Given the description of an element on the screen output the (x, y) to click on. 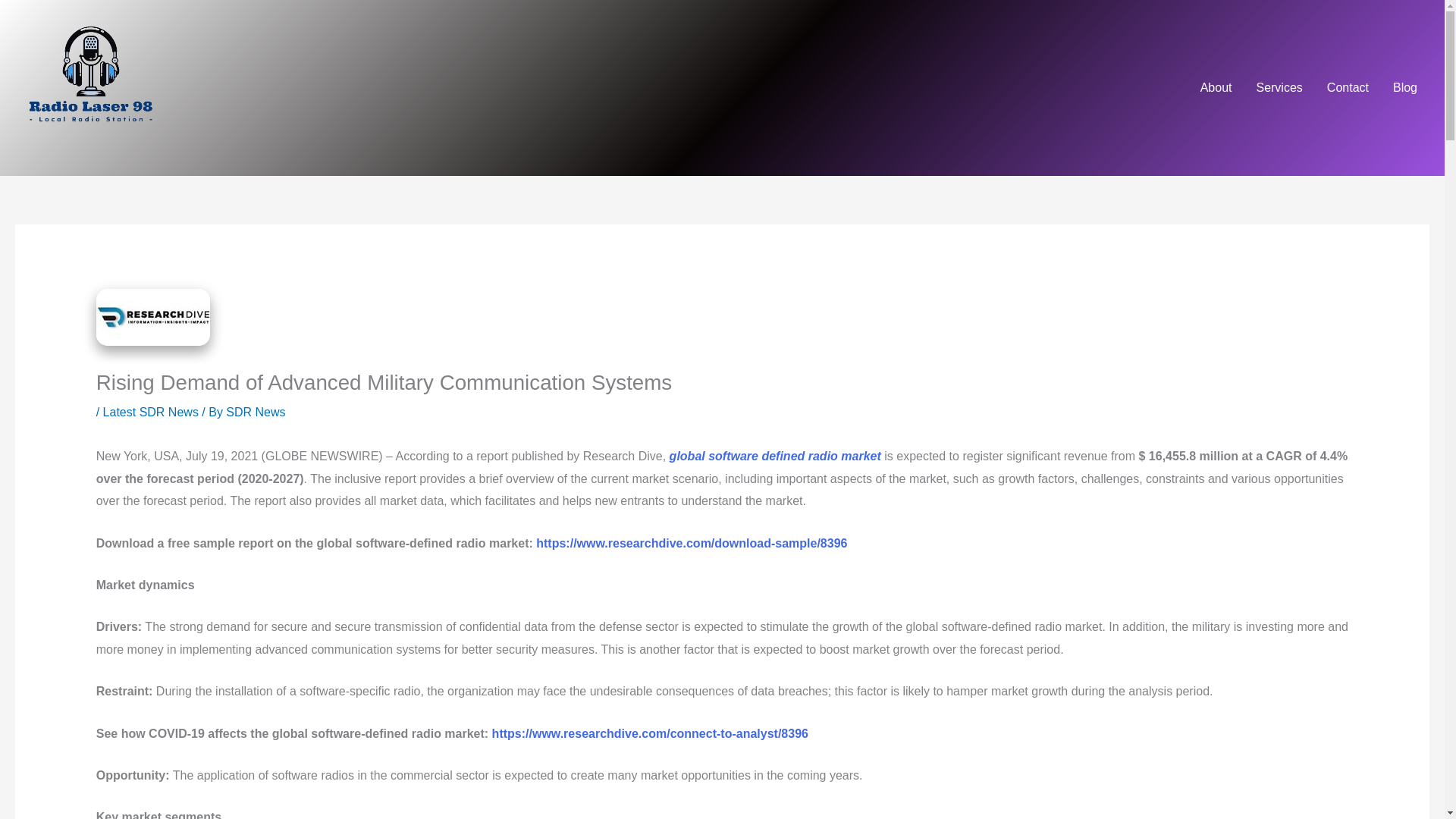
Contact (1347, 87)
global software defined radio market (774, 455)
Latest SDR News (150, 411)
Blog (1404, 87)
global software defined radio market (774, 455)
View all posts by SDR News (255, 411)
SDR News (255, 411)
About (1216, 87)
Services (1278, 87)
